Given the description of an element on the screen output the (x, y) to click on. 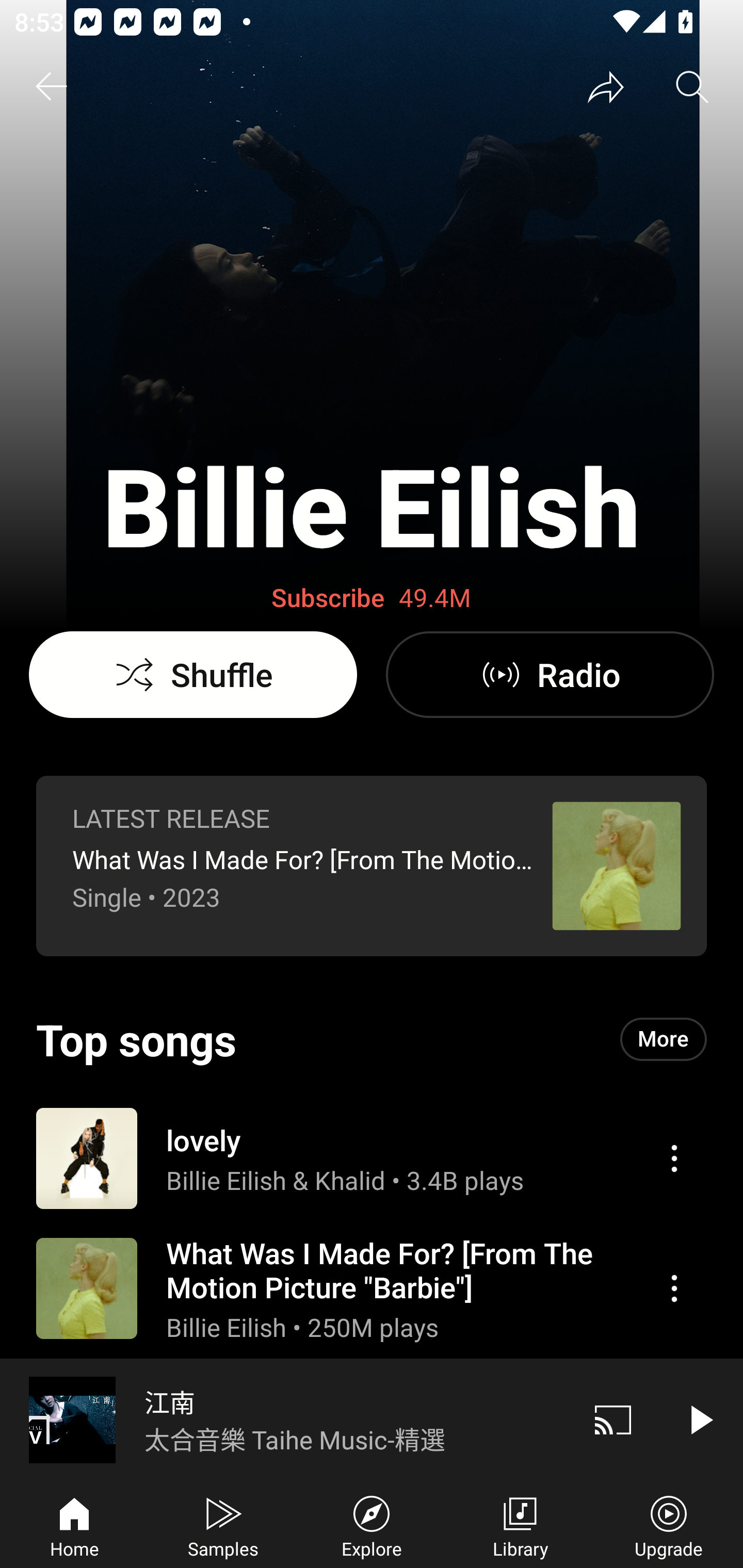
Back (50, 86)
Share (605, 86)
Search (692, 86)
Subscribe 49.4M (371, 598)
Shuffle (192, 674)
Radio (549, 674)
Action menu (371, 1157)
Action menu (673, 1158)
Action menu (371, 1288)
Action menu (673, 1288)
江南 太合音樂 Taihe Music-精選 (284, 1419)
Cast. Disconnected (612, 1419)
Play video (699, 1419)
Home (74, 1524)
Samples (222, 1524)
Explore (371, 1524)
Library (519, 1524)
Upgrade (668, 1524)
